Given the description of an element on the screen output the (x, y) to click on. 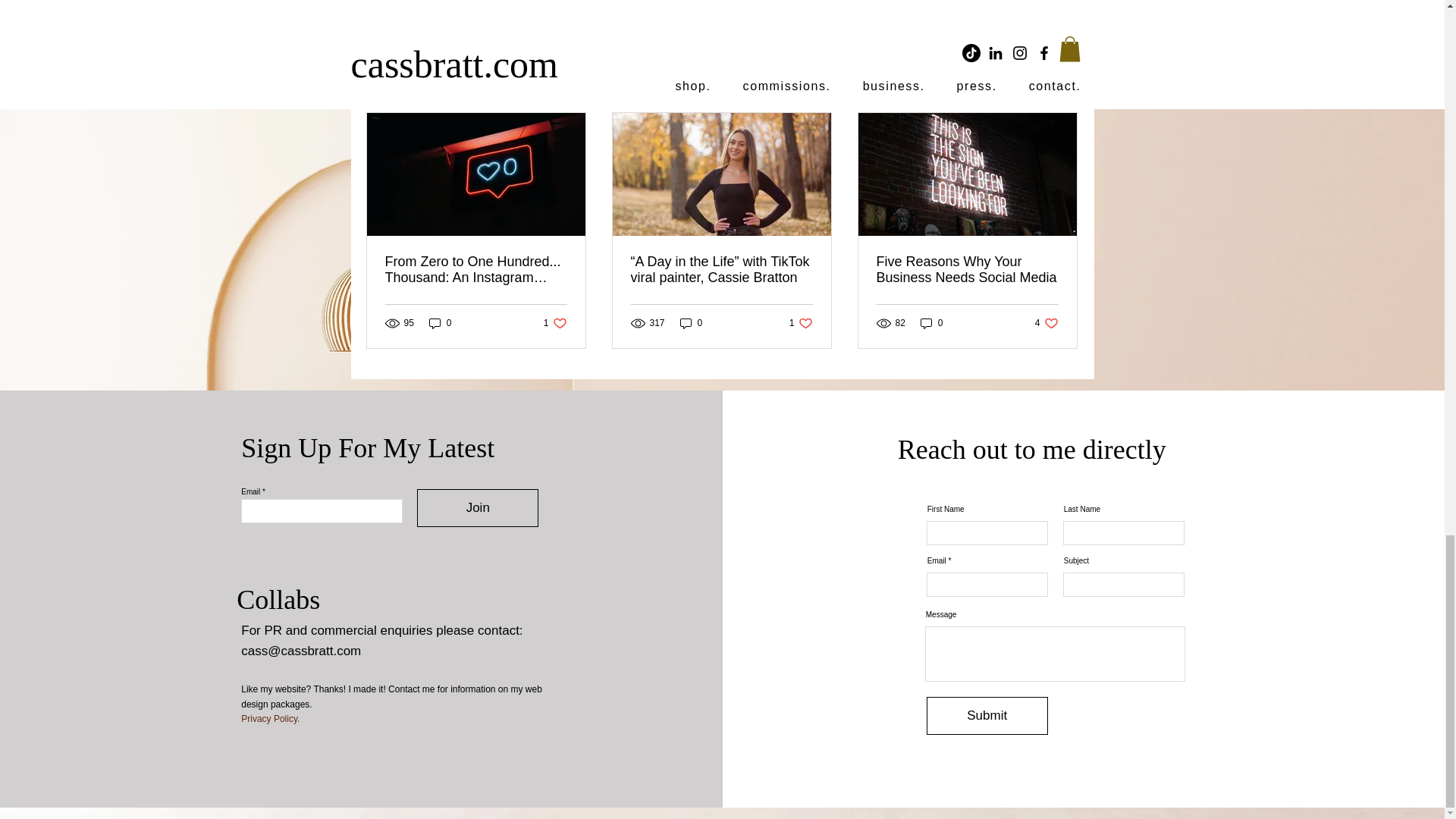
See All (555, 322)
0 (1061, 86)
0 (990, 5)
